Given the description of an element on the screen output the (x, y) to click on. 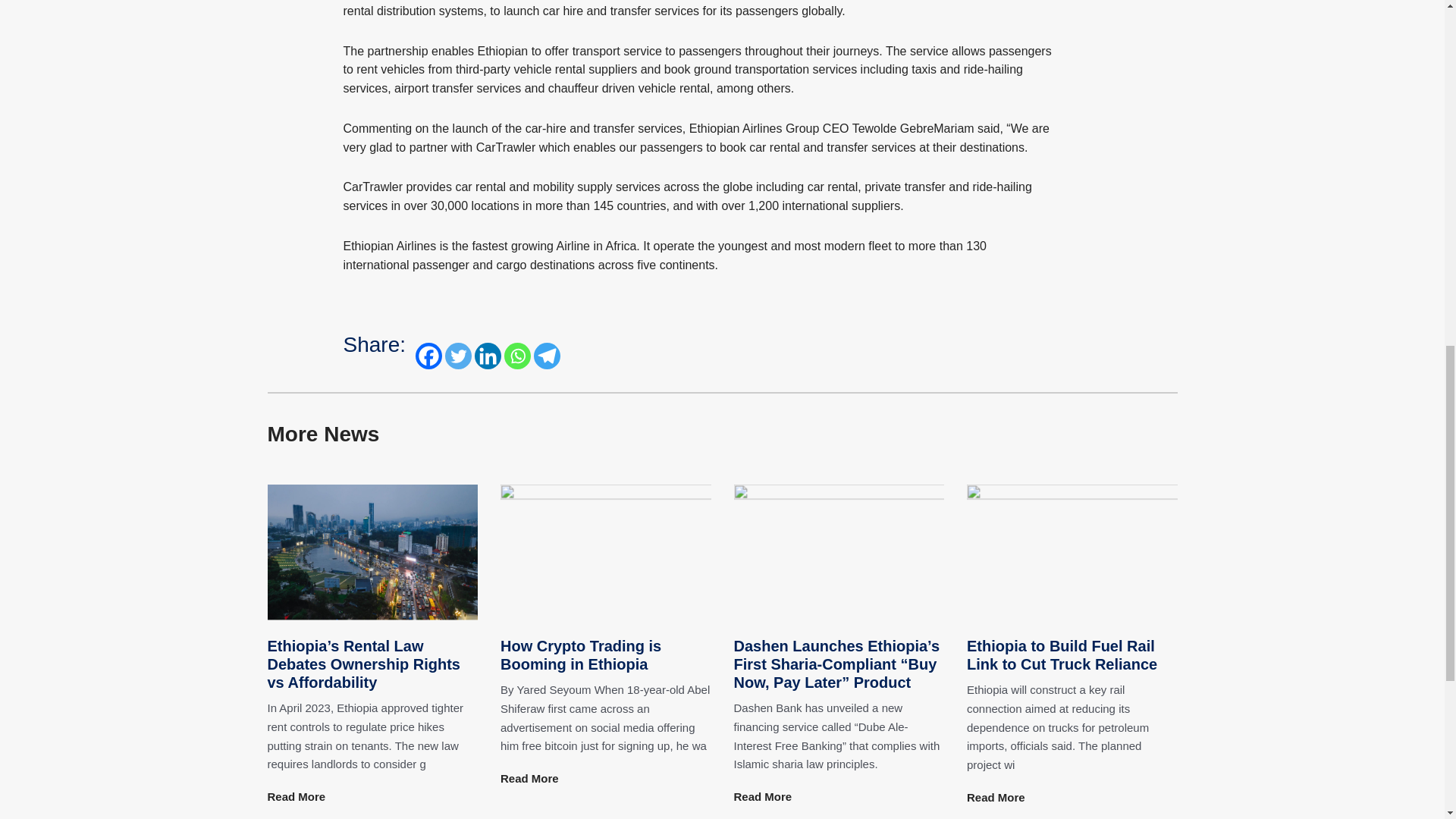
Telegram (547, 356)
Whatsapp (517, 356)
Read More (295, 796)
Linkedin (487, 356)
Twitter (458, 356)
Facebook (428, 356)
